Given the description of an element on the screen output the (x, y) to click on. 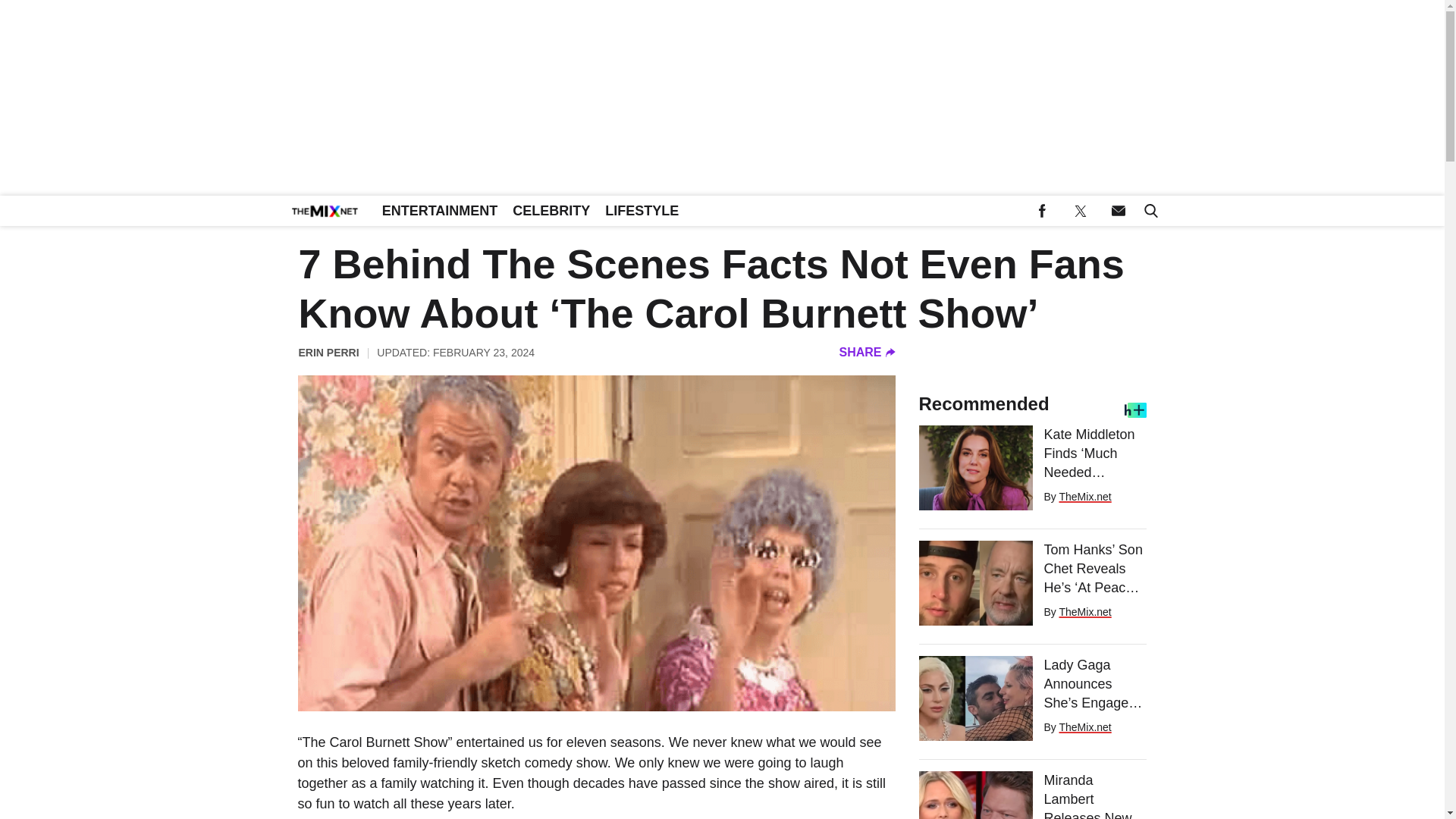
Send us an email (1118, 210)
LIFESTYLE (640, 210)
ENTERTAINMENT (439, 210)
ERIN PERRI (328, 352)
Follow us on Twitter (1080, 210)
Follow us on Facebook (1042, 210)
CELEBRITY (550, 210)
Posts by Erin Perri (328, 352)
